Given the description of an element on the screen output the (x, y) to click on. 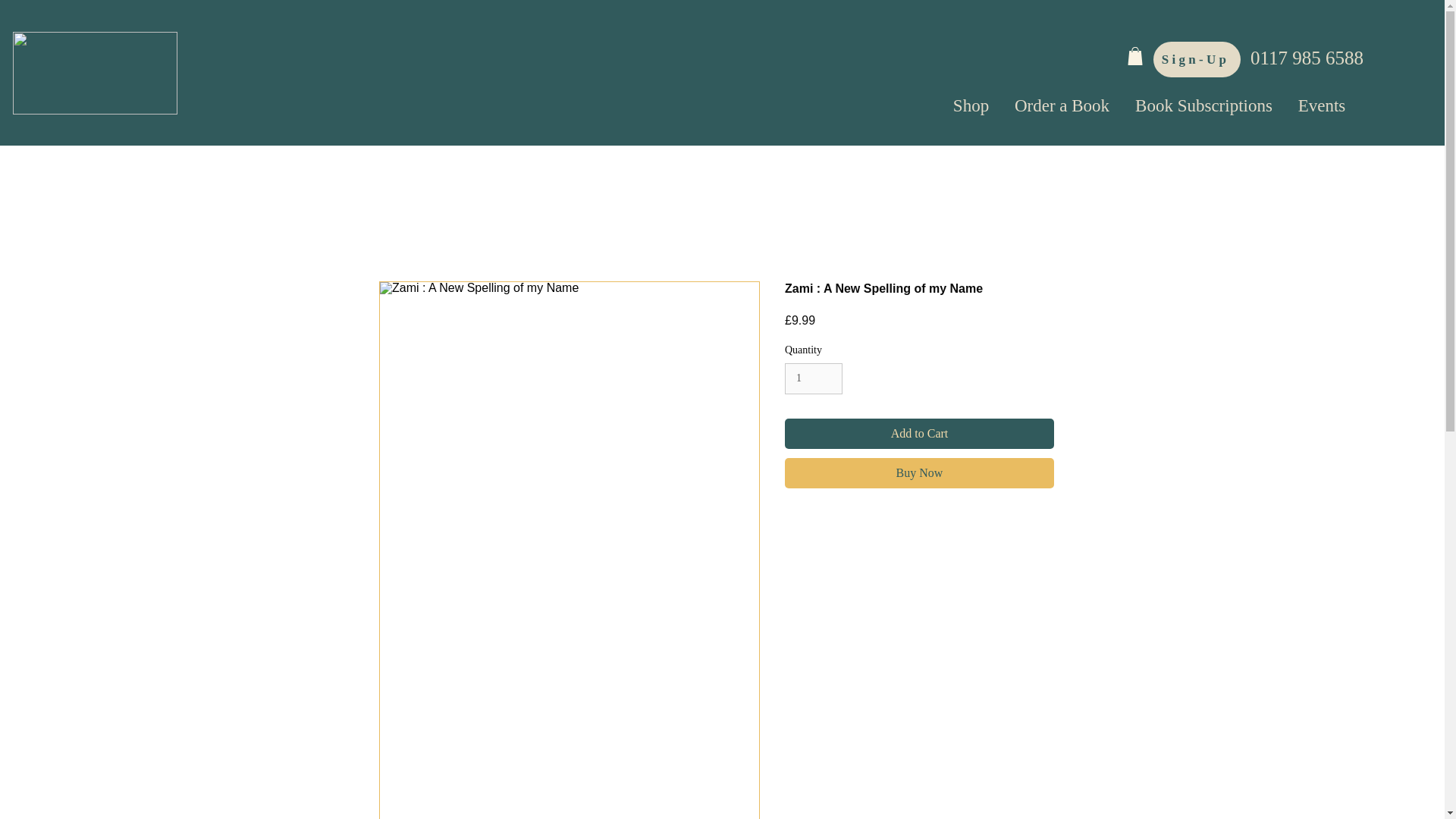
Book Subscriptions (1203, 106)
Order a Book (1061, 106)
Add to Cart (919, 433)
Sign-Up (1196, 58)
1 (813, 378)
Buy Now (919, 472)
Events (1321, 106)
Shop (970, 106)
